Given the description of an element on the screen output the (x, y) to click on. 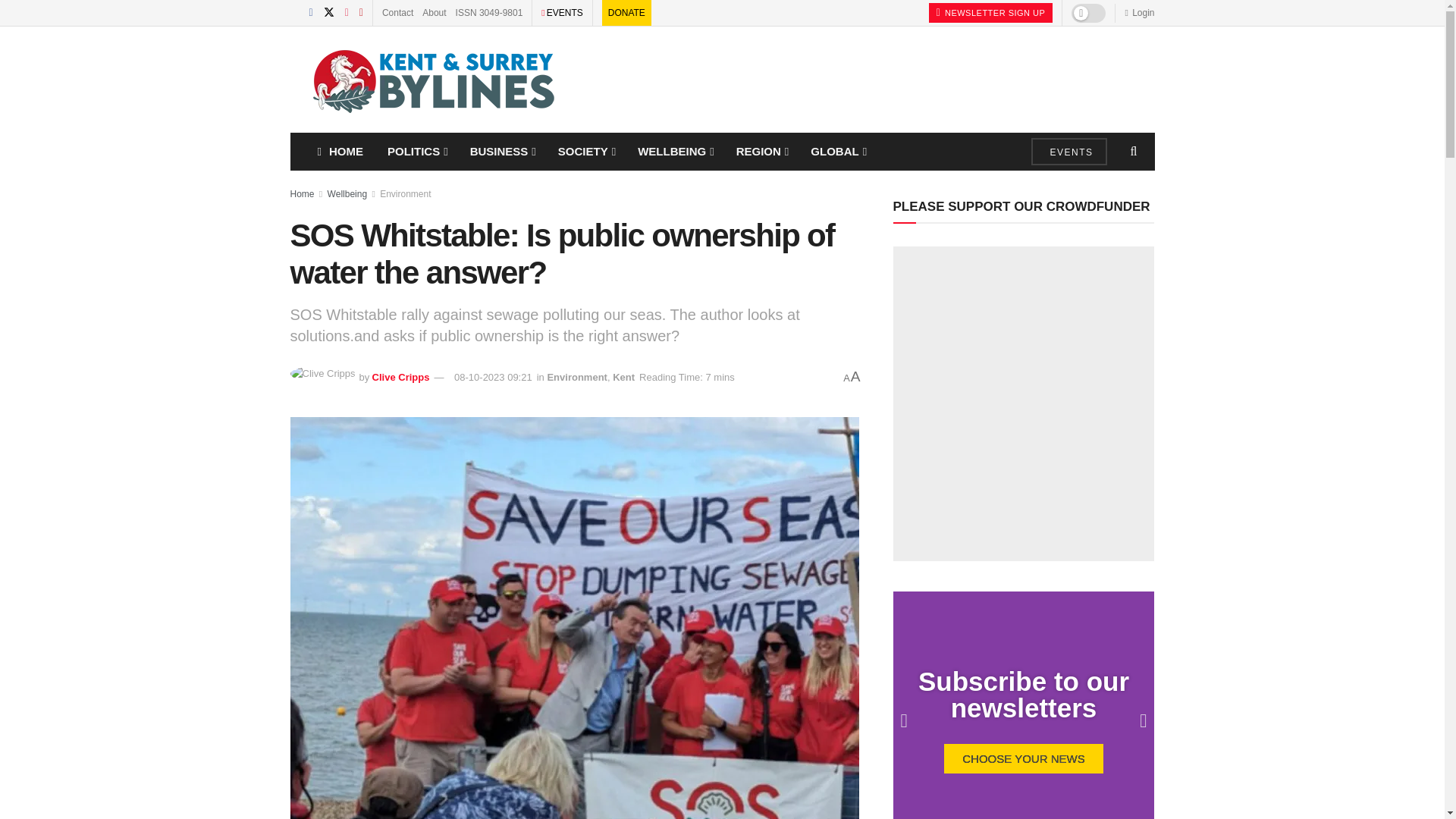
DONATE (626, 12)
Wellbeing (346, 194)
Home (301, 194)
SOCIETY (586, 151)
BUSINESS (502, 151)
WELLBEING (674, 151)
NEWSLETTER SIGN UP (990, 12)
REGION (761, 151)
Contact (397, 12)
EVENTS (565, 12)
About (433, 12)
Environment (405, 194)
EVENTS (1068, 151)
GLOBAL (836, 151)
HOME (339, 151)
